Given the description of an element on the screen output the (x, y) to click on. 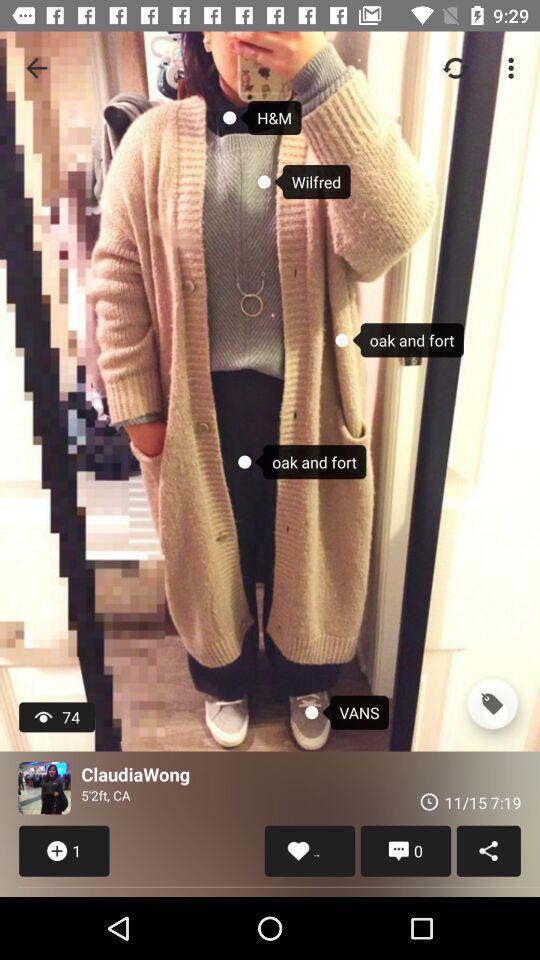
bookmark icon (492, 704)
